Given the description of an element on the screen output the (x, y) to click on. 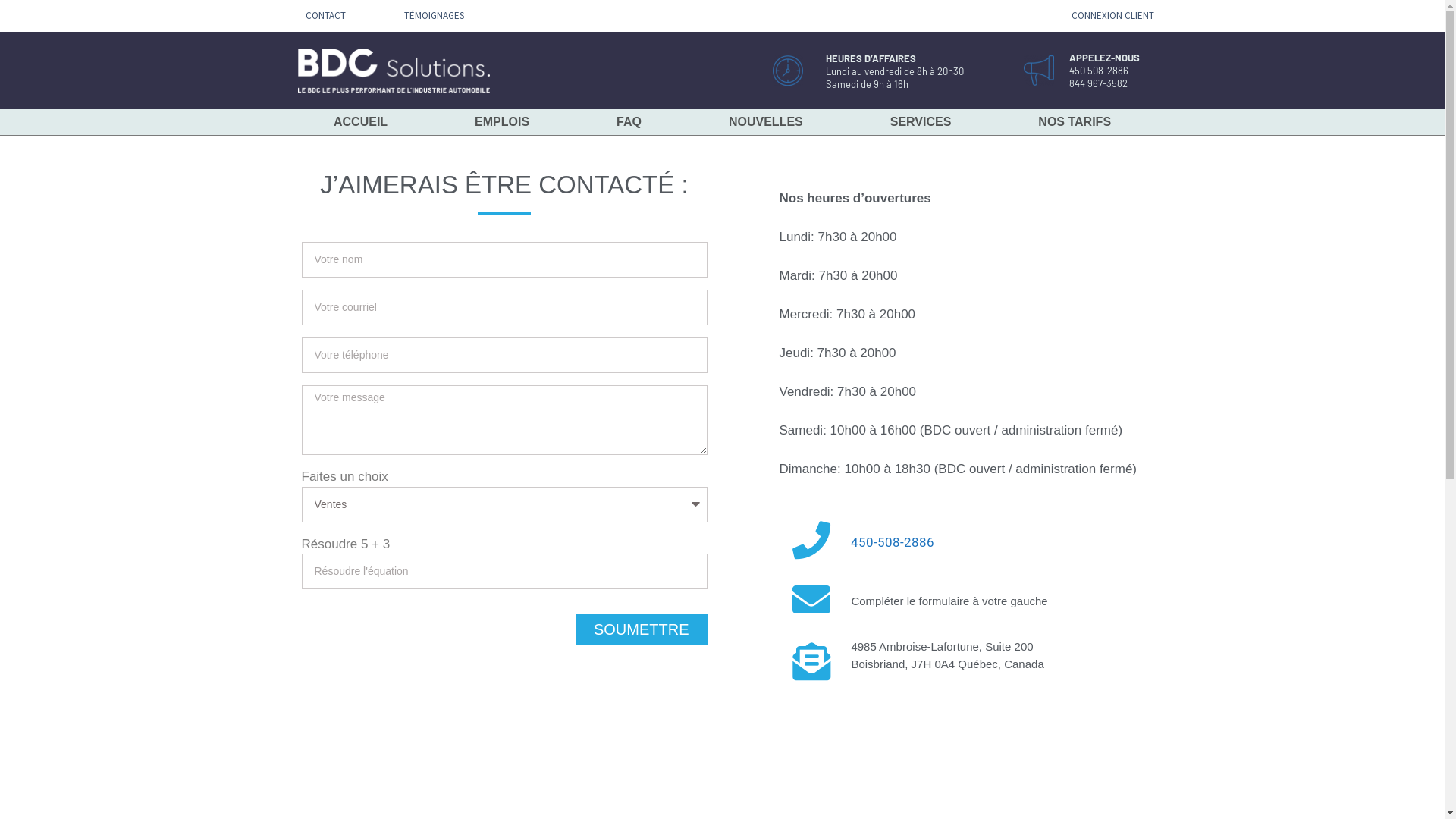
844 967-3582 Element type: text (1098, 83)
CONNEXION CLIENT Element type: text (1112, 15)
450 508-2886 Element type: text (1098, 69)
appelez Element type: hover (1038, 70)
EMPLOIS Element type: text (502, 121)
450-508-2886 Element type: text (892, 541)
NOUVELLES Element type: text (765, 121)
FAQ Element type: text (629, 121)
NOS TARIFS Element type: text (1074, 121)
ACCUEIL Element type: text (359, 121)
SOUMETTRE Element type: text (641, 629)
CONTACT Element type: text (324, 15)
heures Element type: hover (787, 70)
SERVICES Element type: text (920, 121)
